Given the description of an element on the screen output the (x, y) to click on. 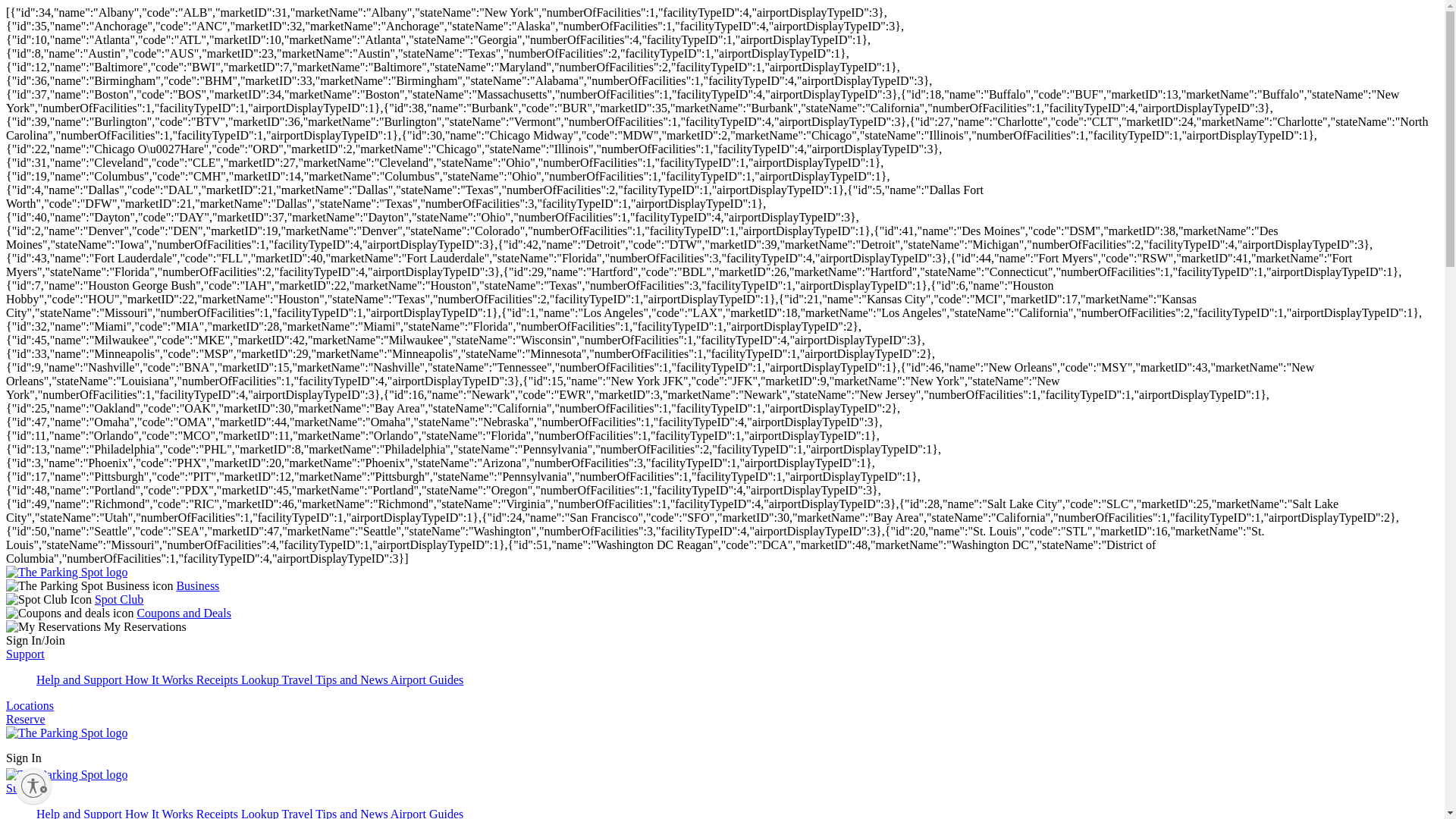
Reserve (25, 718)
Help and Support (80, 679)
Support (25, 788)
How It Works (160, 813)
Locations (29, 705)
Receipts Lookup (239, 679)
Header Logo (66, 774)
Airport Guides (426, 679)
Header Logo (66, 732)
Sign In (23, 757)
